Given the description of an element on the screen output the (x, y) to click on. 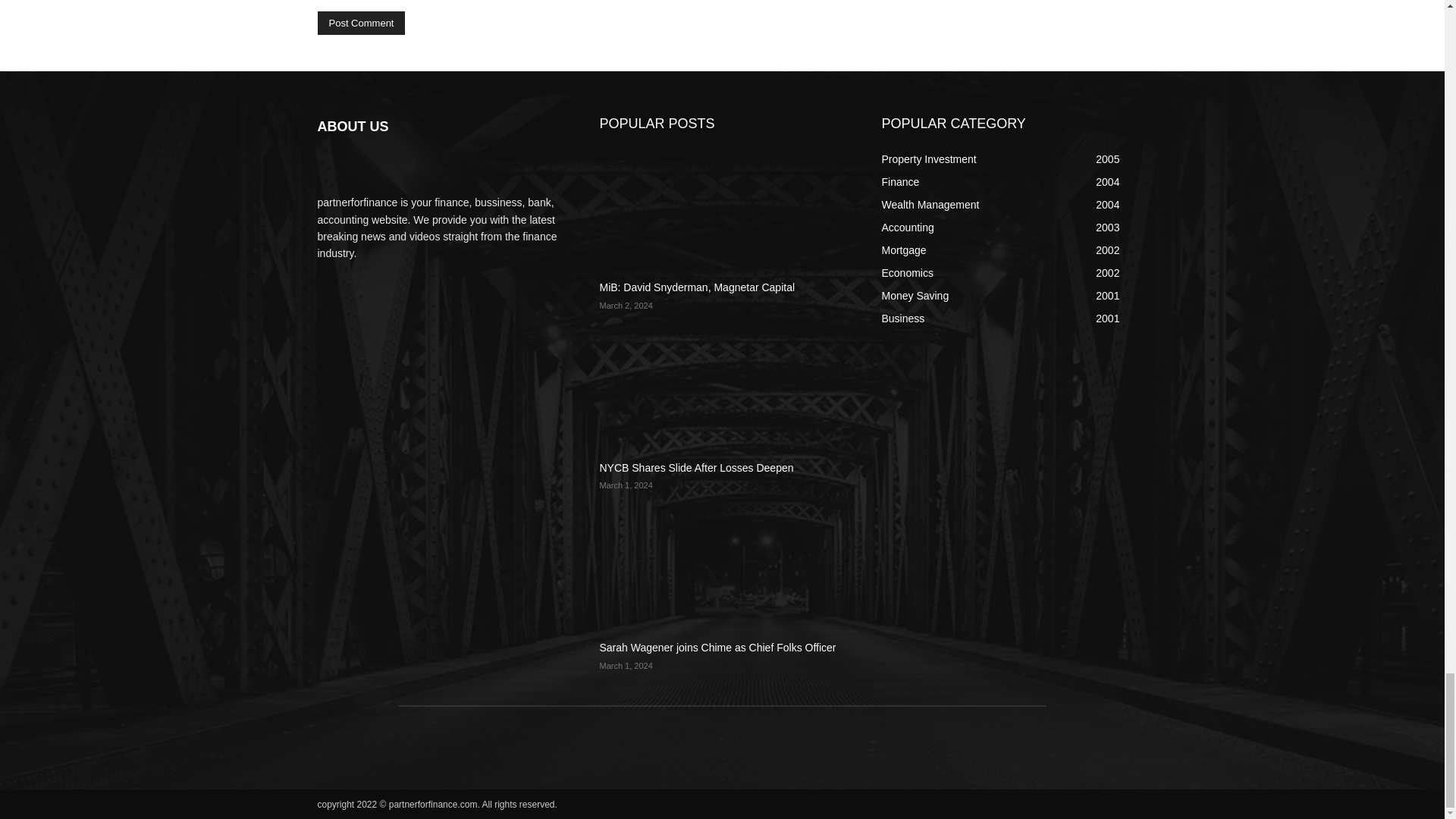
Post Comment (360, 23)
